Given the description of an element on the screen output the (x, y) to click on. 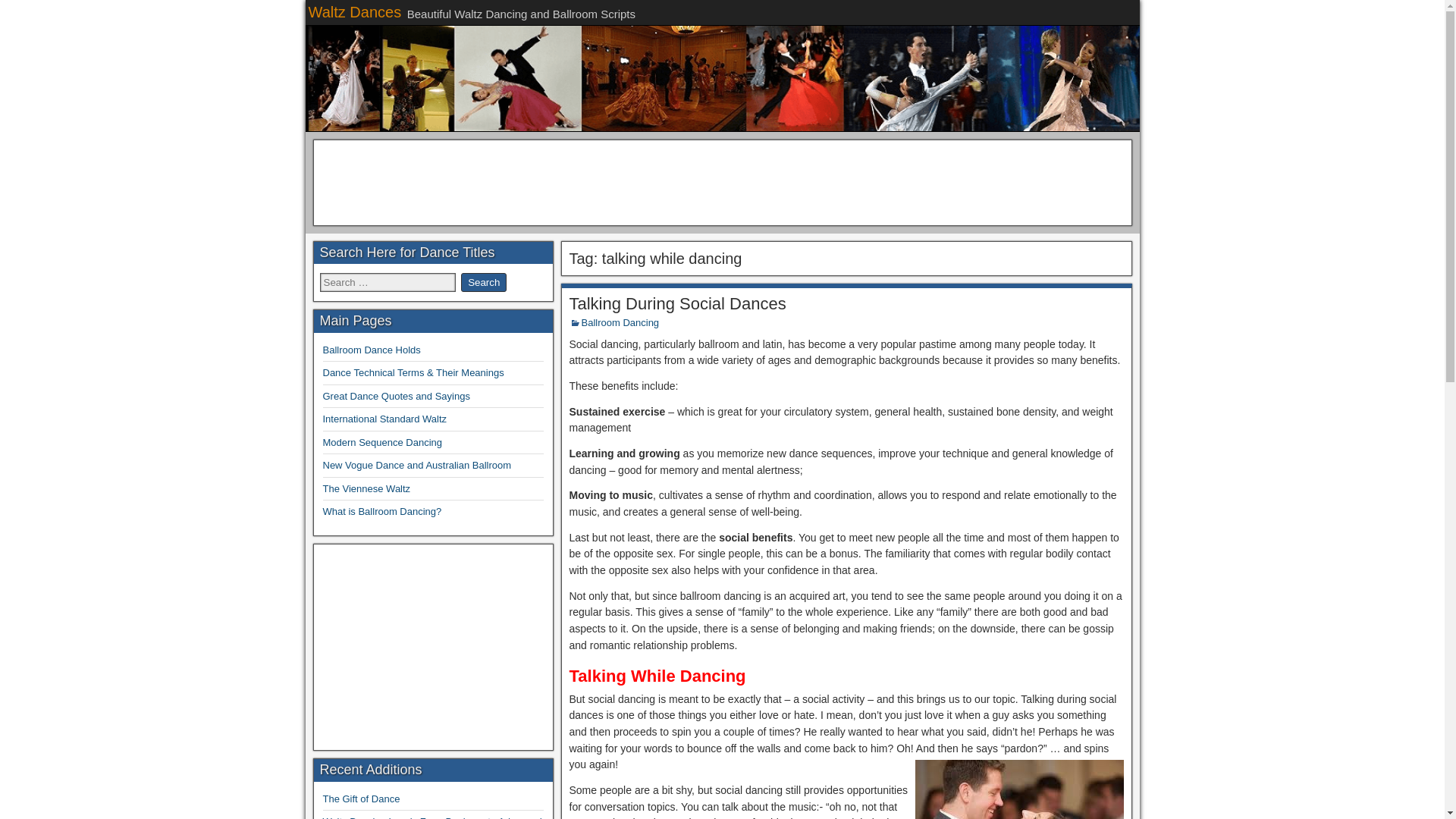
The Viennese Waltz (366, 488)
The Gift of Dance (361, 798)
Advertisement (433, 645)
Search (483, 281)
Great Dance Quotes and Sayings (396, 396)
Talking During Social Dances (677, 303)
International Standard Waltz (384, 419)
Search (483, 281)
Advertisement (721, 180)
Waltz Dancing Levels From Beginner to Advanced (432, 817)
What is Ballroom Dancing? (382, 511)
Modern Sequence Dancing (382, 441)
Ballroom Dancing (619, 322)
Ballroom Dance Holds (371, 349)
New Vogue Dance and Australian Ballroom (417, 464)
